Given the description of an element on the screen output the (x, y) to click on. 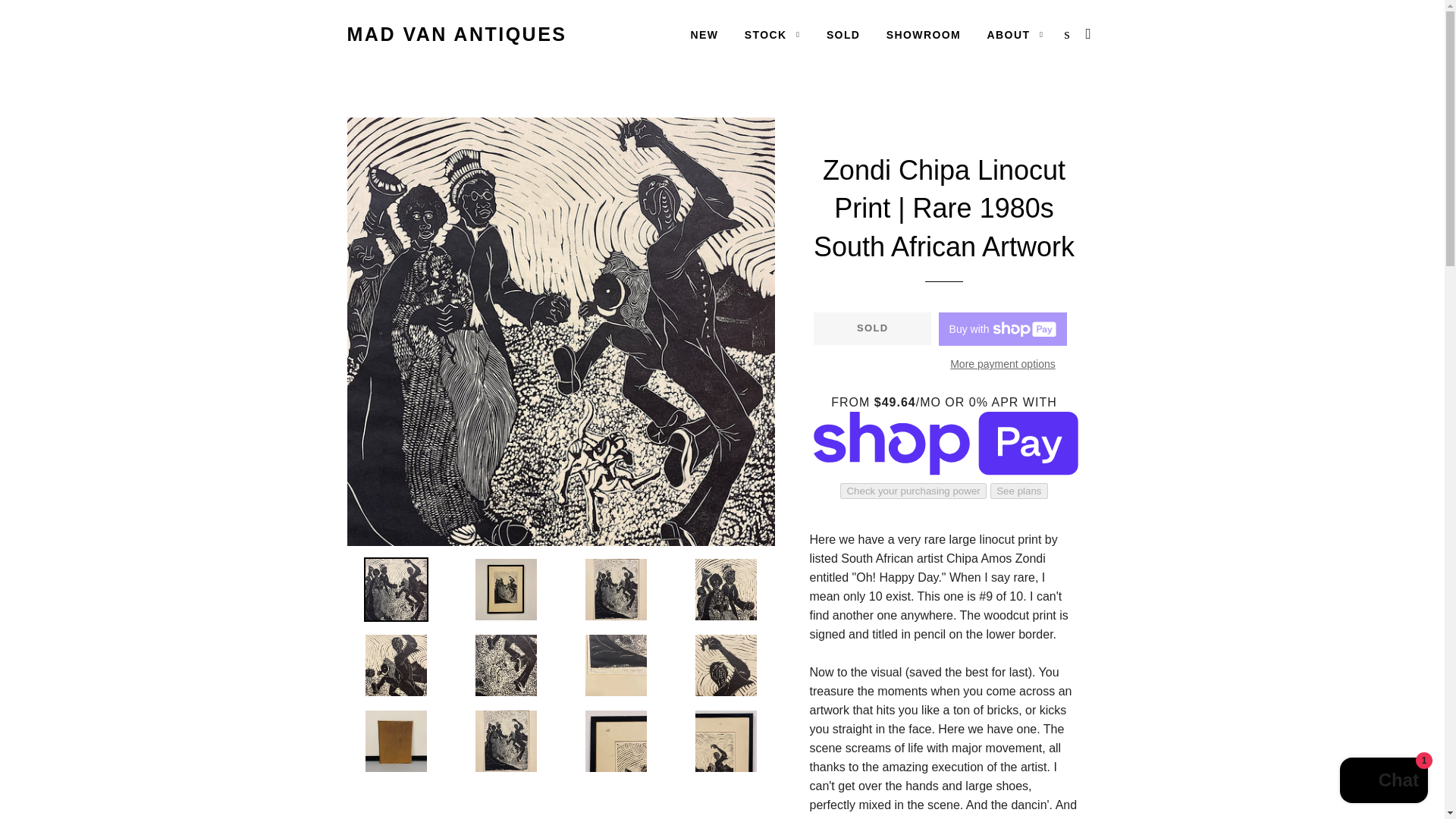
MAD VAN ANTIQUES (457, 34)
Shopify online store chat (1383, 781)
STOCK (772, 35)
NEW (703, 35)
